Given the description of an element on the screen output the (x, y) to click on. 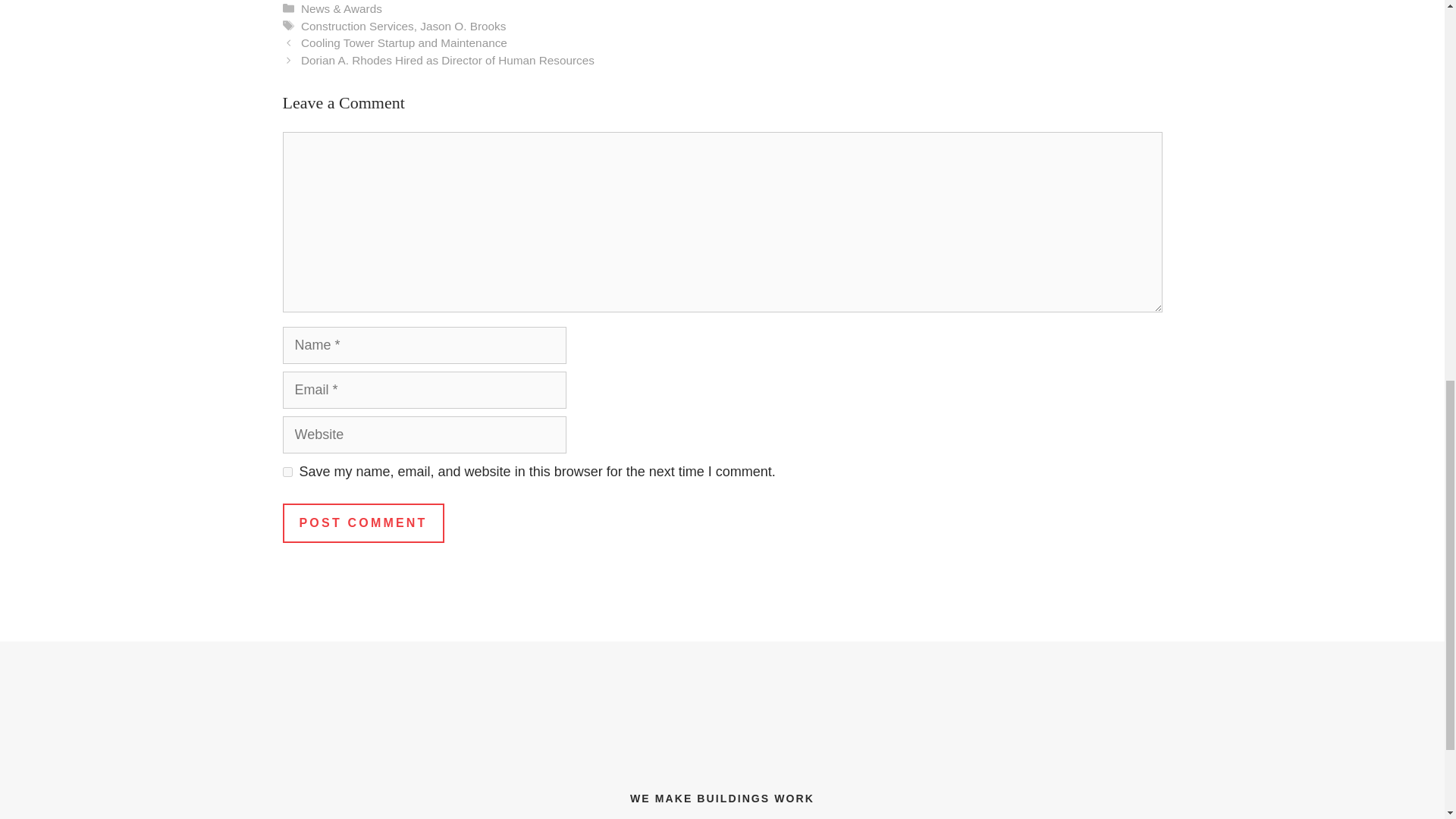
Post Comment (363, 522)
Cooling Tower Startup and Maintenance (403, 42)
Dorian A. Rhodes Hired as Director of Human Resources (447, 60)
Post Comment (363, 522)
Construction Services (357, 25)
yes (287, 471)
Jason O. Brooks (462, 25)
